Given the description of an element on the screen output the (x, y) to click on. 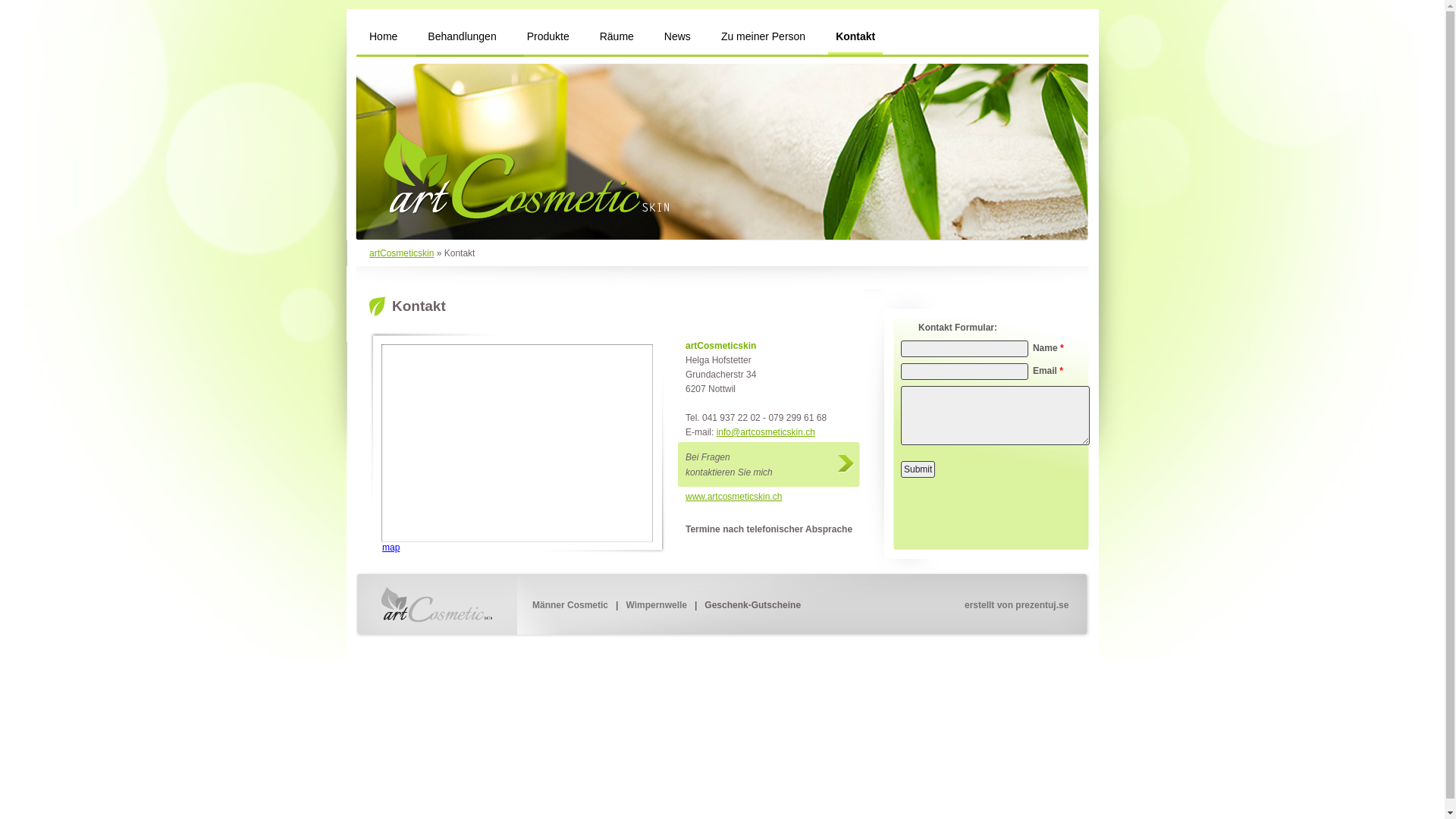
www.artcosmeticskin.ch Element type: text (733, 496)
Submit Element type: text (917, 469)
artCosmeticskin Element type: hover (441, 606)
Home Element type: text (382, 37)
Behandlungen Element type: text (461, 37)
News Element type: text (677, 37)
artCosmeticskin Element type: text (401, 252)
map Element type: text (390, 547)
artCosmeticskin Element type: text (722, 147)
Wimpernwelle Element type: text (656, 604)
erstellt von prezentuj.se Element type: text (1016, 604)
info@artcosmeticskin.ch Element type: text (765, 431)
Produkte Element type: text (548, 37)
Kontakt Element type: text (855, 37)
Zu meiner Person Element type: text (762, 37)
